Given the description of an element on the screen output the (x, y) to click on. 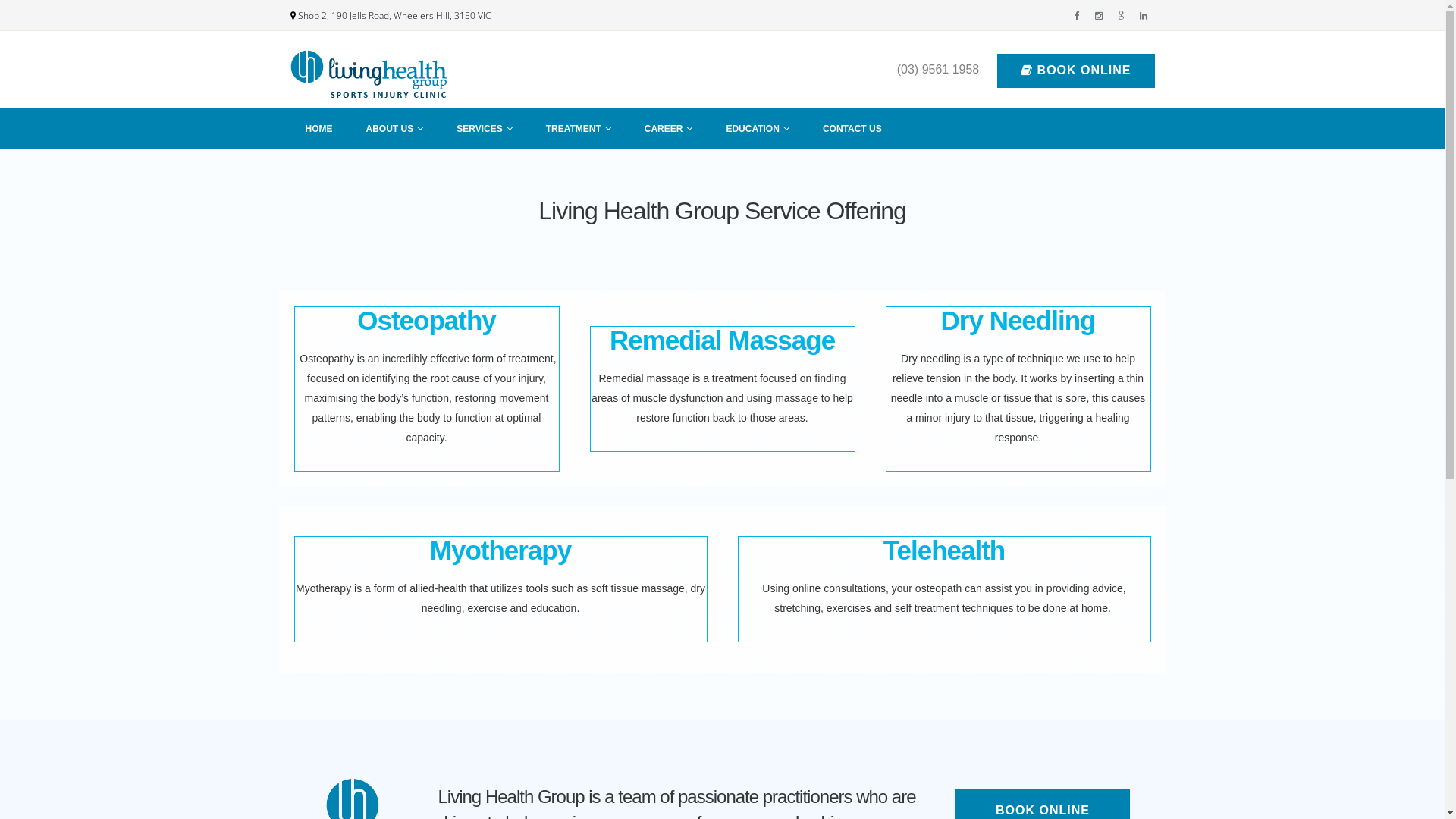
Telehealth Element type: text (944, 549)
BOOK ONLINE Element type: text (1075, 70)
CONTACT US Element type: text (852, 128)
Myotherapy Element type: text (500, 549)
Dry Needling Element type: text (1018, 320)
TREATMENT Element type: text (578, 128)
ABOUT US Element type: text (394, 128)
CAREER Element type: text (668, 128)
Osteopathy Element type: text (426, 320)
(03) 9561 1958 Element type: text (938, 68)
EDUCATION Element type: text (756, 128)
Remedial Massage Element type: text (721, 339)
HOME Element type: text (318, 128)
SERVICES Element type: text (484, 128)
